Given the description of an element on the screen output the (x, y) to click on. 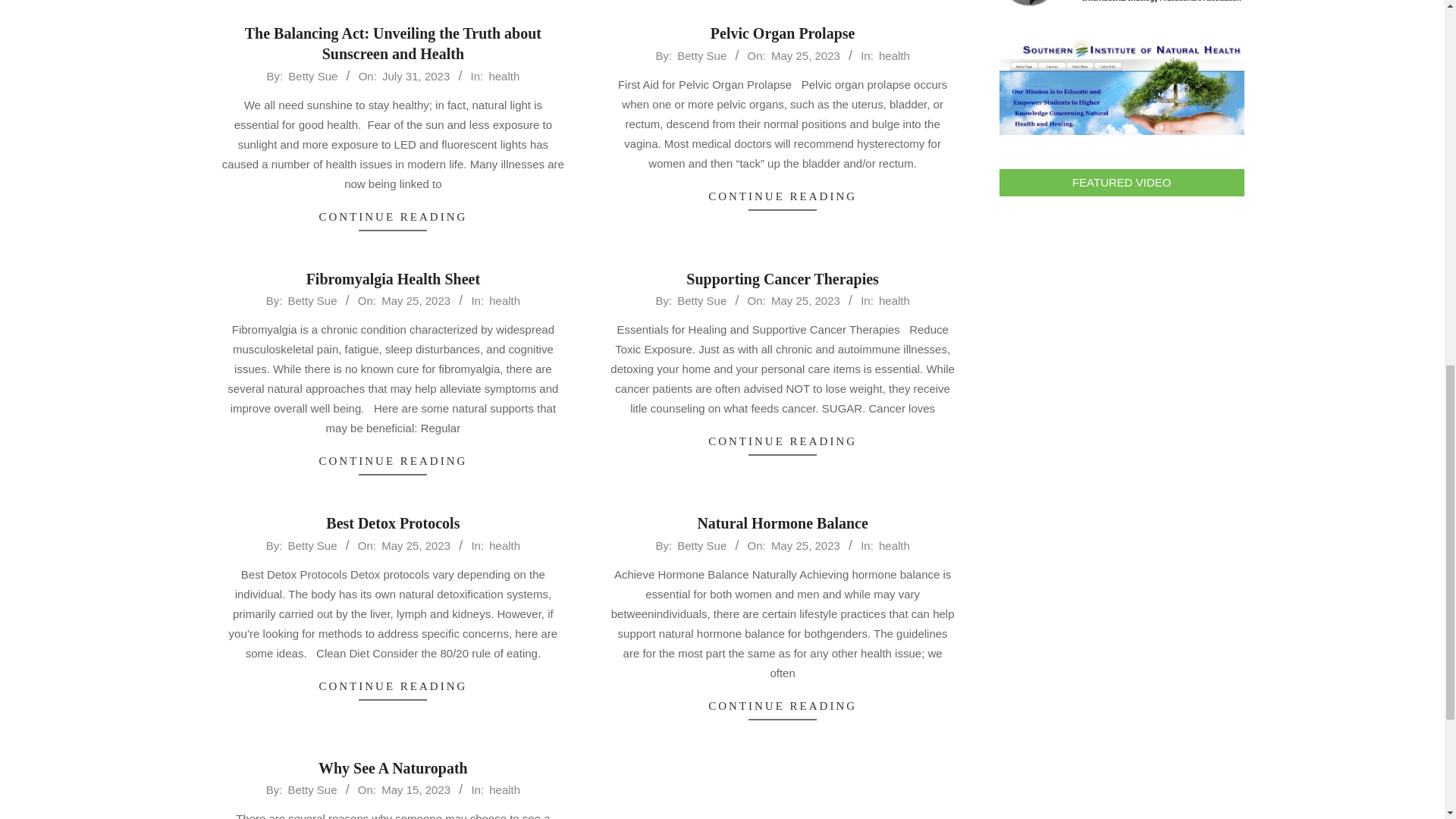
health (894, 55)
Posts by Betty Sue (312, 300)
Betty Sue (312, 75)
Thursday, May 25, 2023, 12:49 pm (805, 55)
Posts by Betty Sue (701, 300)
Supporting Cancer Therapies (782, 279)
Posts by Betty Sue (312, 75)
Monday, July 31, 2023, 11:17 am (415, 75)
CONTINUE READING (782, 197)
Betty Sue (312, 300)
CONTINUE READING (393, 461)
health (504, 300)
Betty Sue (701, 300)
Thursday, May 25, 2023, 12:30 pm (805, 300)
